Given the description of an element on the screen output the (x, y) to click on. 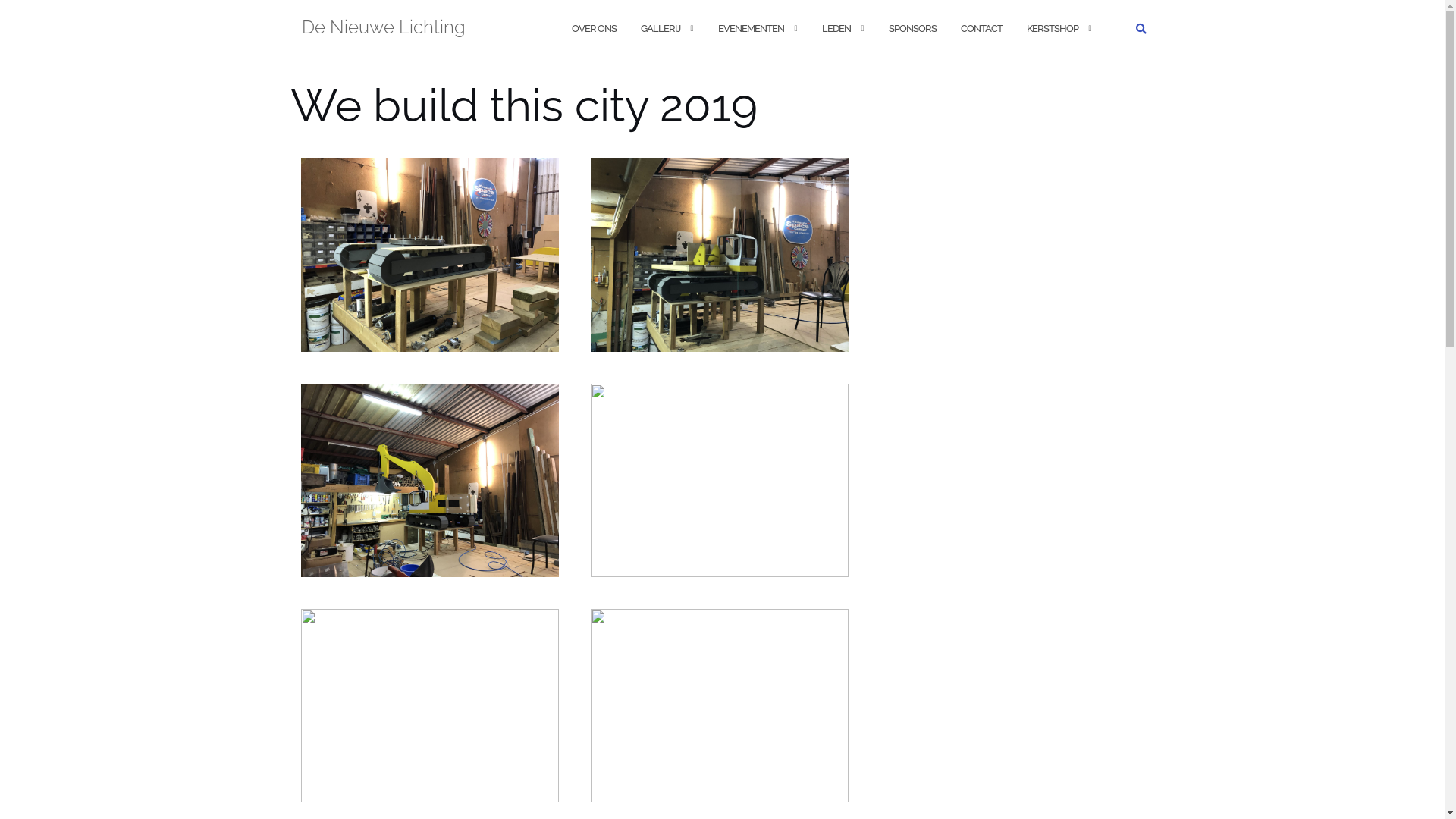
SPONSORS Element type: text (912, 28)
CONTACT Element type: text (980, 28)
De Nieuwe Lichting Element type: text (383, 28)
GALLERIJ Element type: text (659, 28)
EVENEMENTEN Element type: text (750, 28)
LEDEN Element type: text (836, 28)
KERSTSHOP Element type: text (1052, 28)
OVER ONS Element type: text (593, 28)
